Given the description of an element on the screen output the (x, y) to click on. 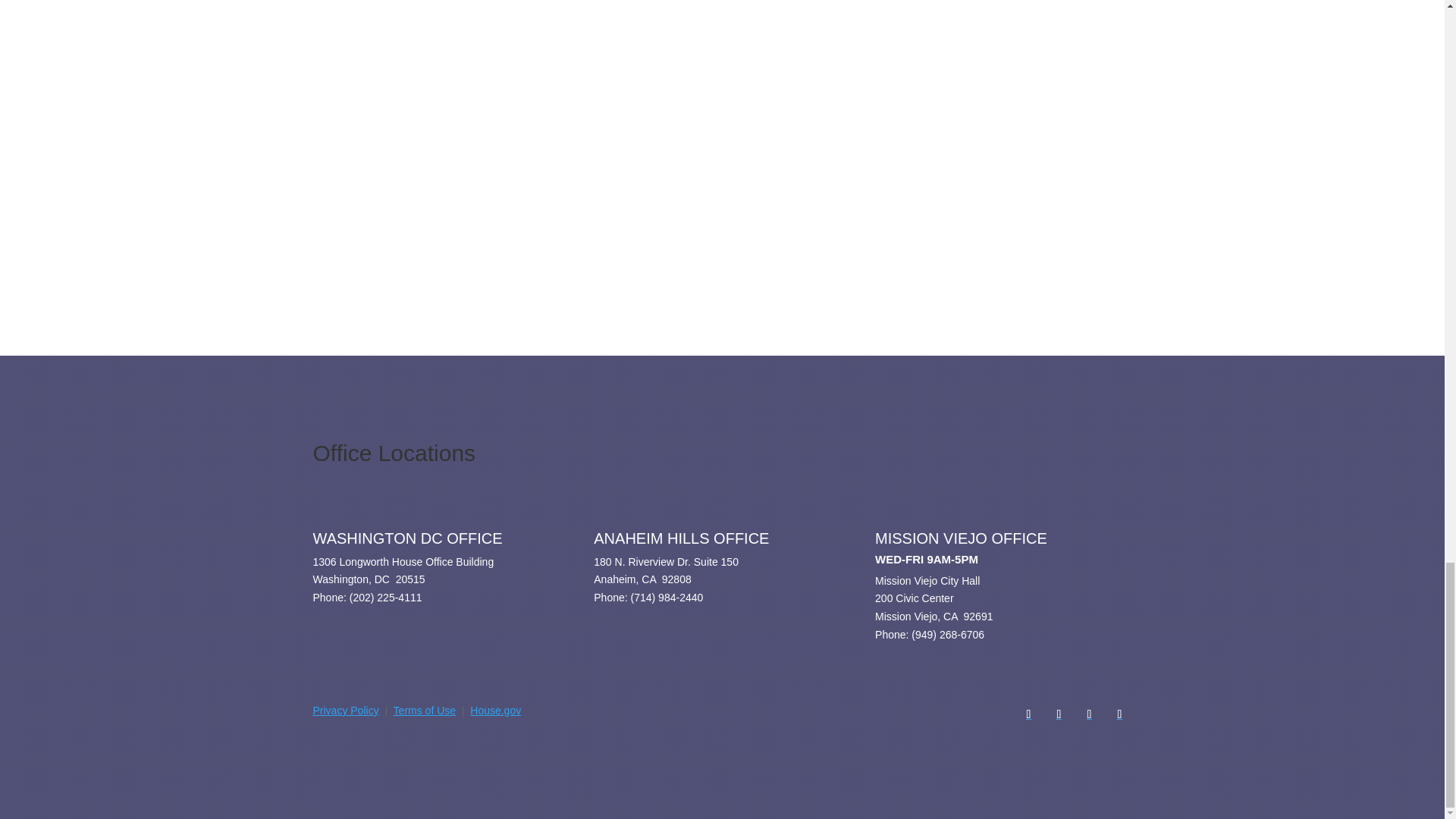
Follow on X (1058, 713)
Follow on Facebook (1028, 713)
Follow on Youtube (1118, 713)
Follow on Instagram (1088, 713)
